Given the description of an element on the screen output the (x, y) to click on. 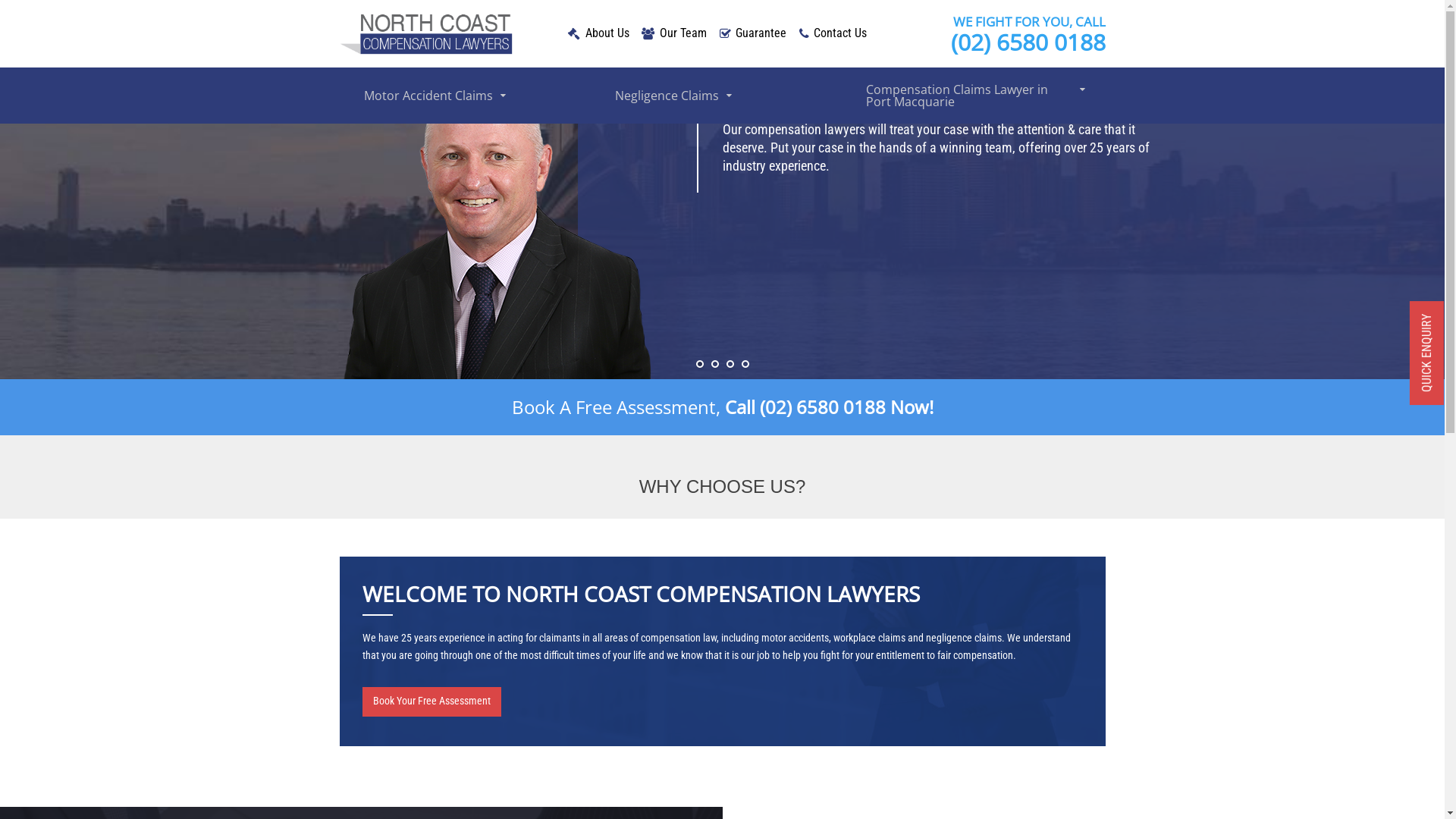
Compensation Claims Lawyer in Port Macquarie Element type: text (978, 95)
Book Your Free Assessment Element type: text (432, 701)
Guarantee Element type: text (763, 32)
Skip to content Element type: text (0, 0)
Negligence Claims Element type: text (727, 95)
Motor Accident Claims Element type: text (476, 95)
Contact Us Element type: text (842, 32)
Our Team Element type: text (684, 32)
About Us Element type: text (609, 32)
